Given the description of an element on the screen output the (x, y) to click on. 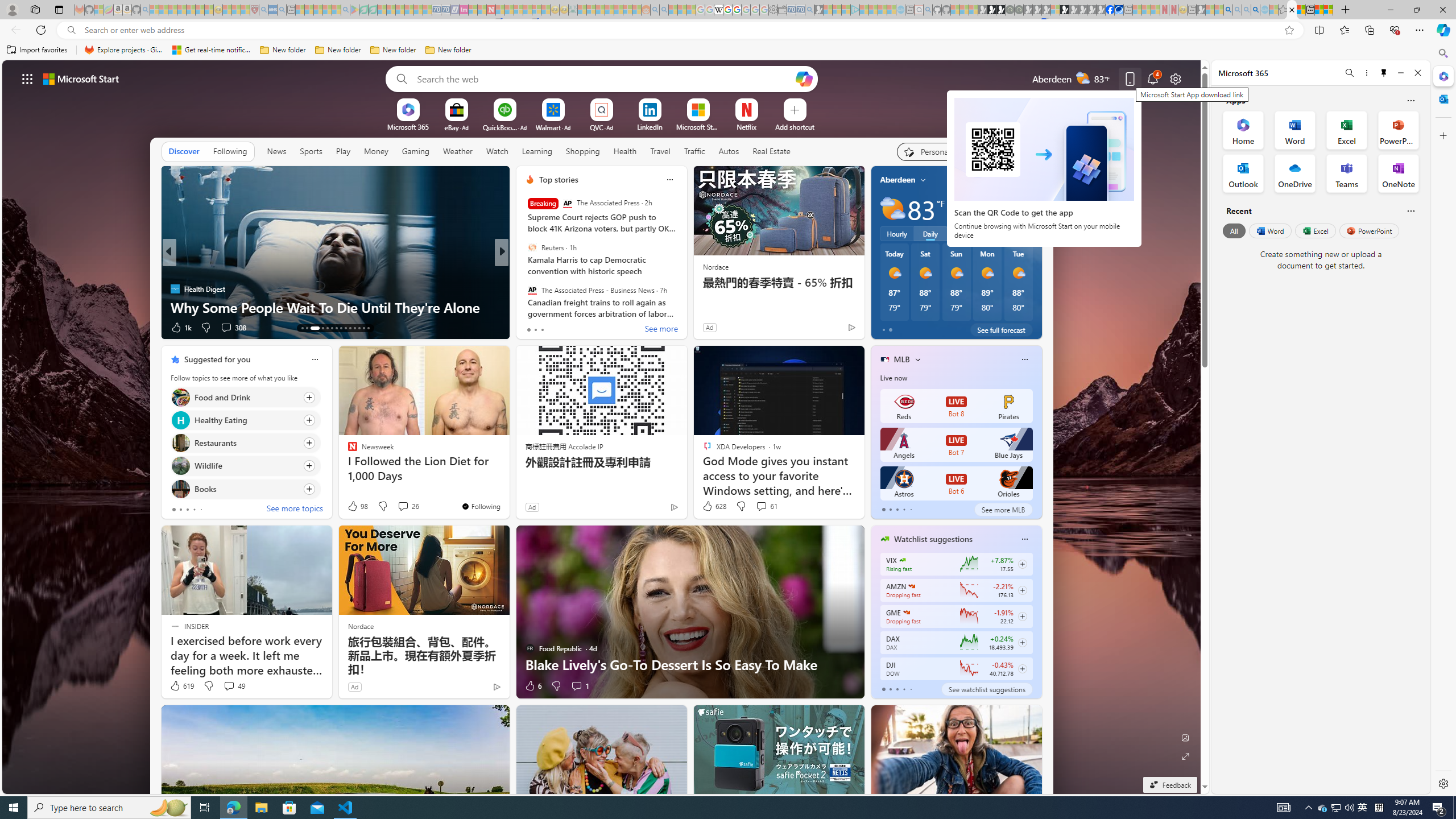
View comments 13 Comment (580, 327)
All (1233, 230)
CBOE Market Volatility Index (901, 559)
View comments 84 Comment (585, 327)
View comments 3 Comment (580, 327)
Play Zoo Boom in your browser | Games from Microsoft Start (991, 9)
